Given the description of an element on the screen output the (x, y) to click on. 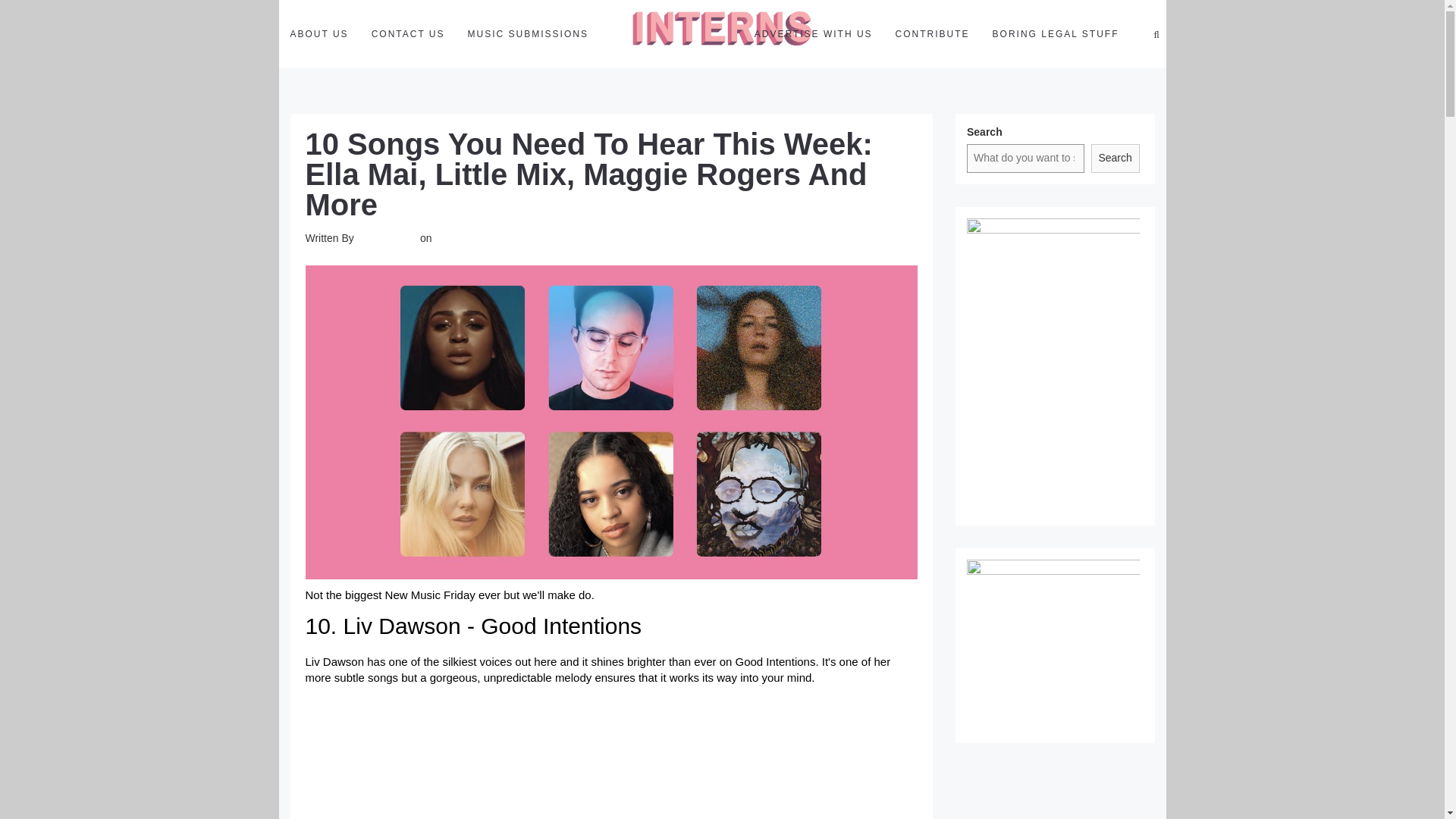
ADVERTISE WITH US (812, 33)
BORING LEGAL STUFF (1056, 33)
CONTACT US (408, 33)
Search (1115, 158)
CONTRIBUTE (932, 33)
Advertise With Us (812, 33)
Sam Murphy (386, 237)
ABOUT US (319, 33)
MUSIC SUBMISSIONS (528, 33)
